Given the description of an element on the screen output the (x, y) to click on. 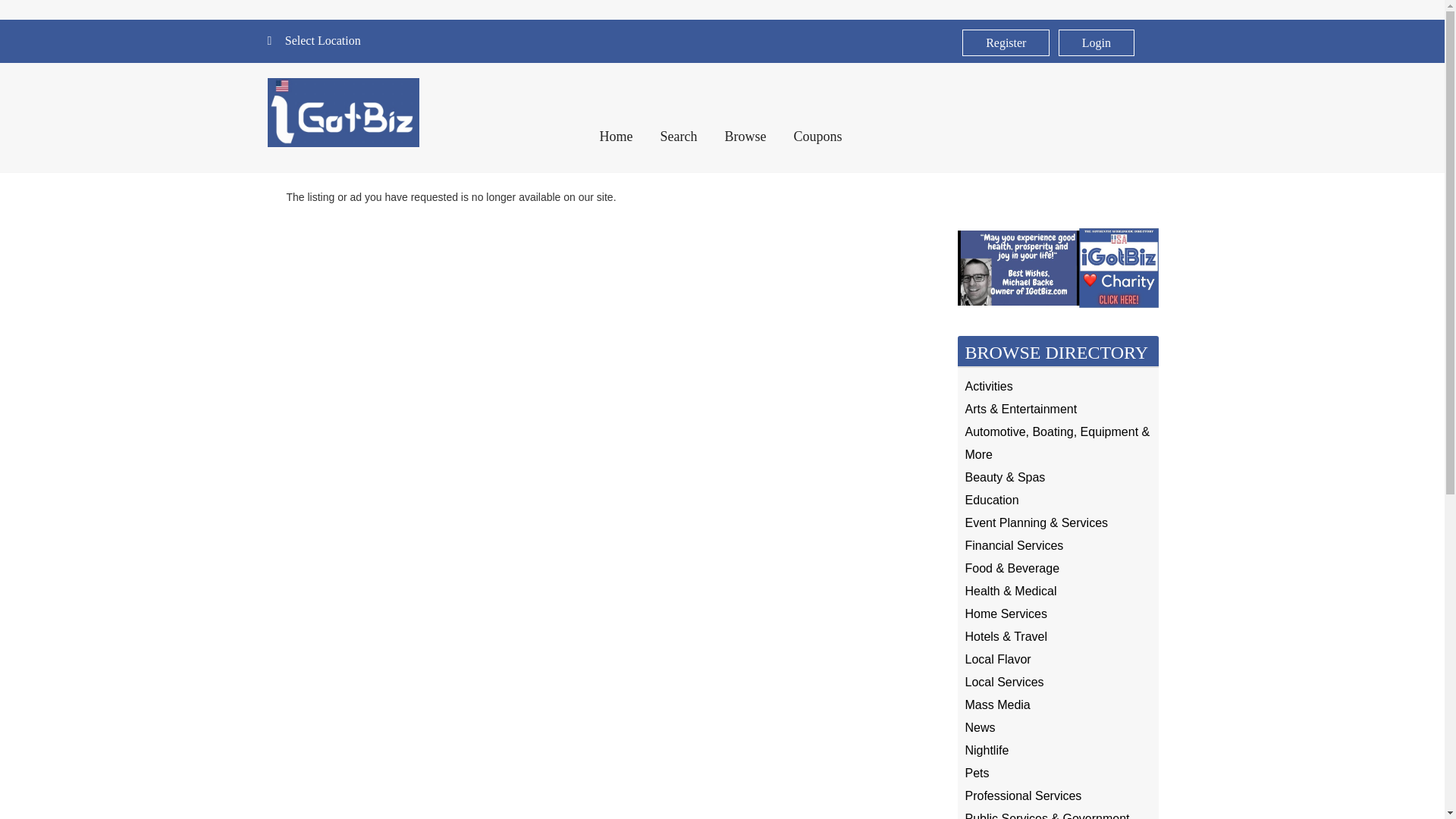
Local Services (1003, 681)
Coupons (817, 136)
Professional Services (1022, 795)
Select Location (323, 40)
Register (1005, 42)
Education (990, 499)
Mass Media (996, 704)
igotbiz (342, 112)
News (978, 727)
Login (1096, 42)
Search (678, 136)
Financial Services (1012, 545)
Local Flavor (996, 658)
Nightlife (986, 749)
Browse (744, 136)
